Given the description of an element on the screen output the (x, y) to click on. 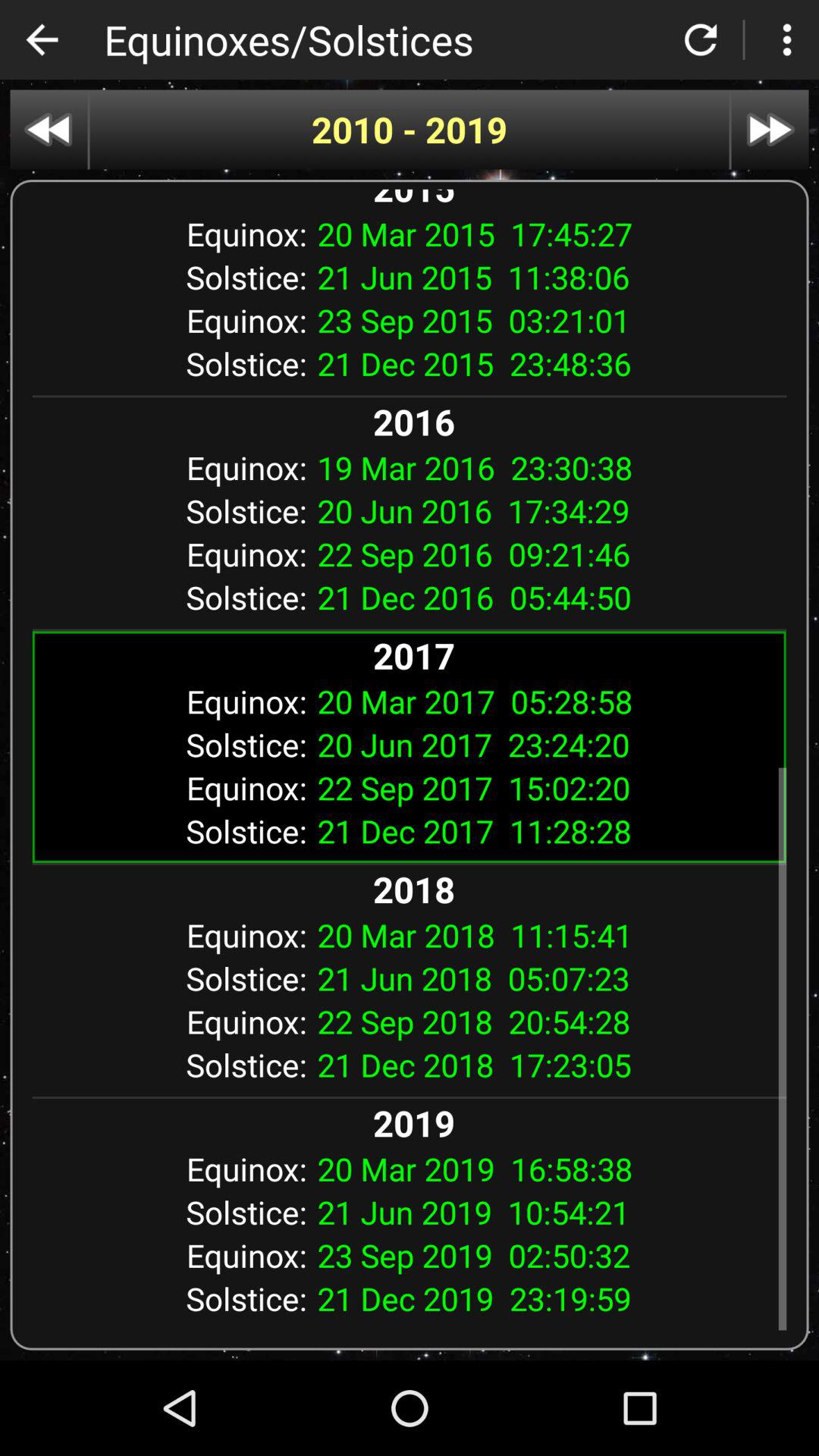
back button (41, 39)
